Given the description of an element on the screen output the (x, y) to click on. 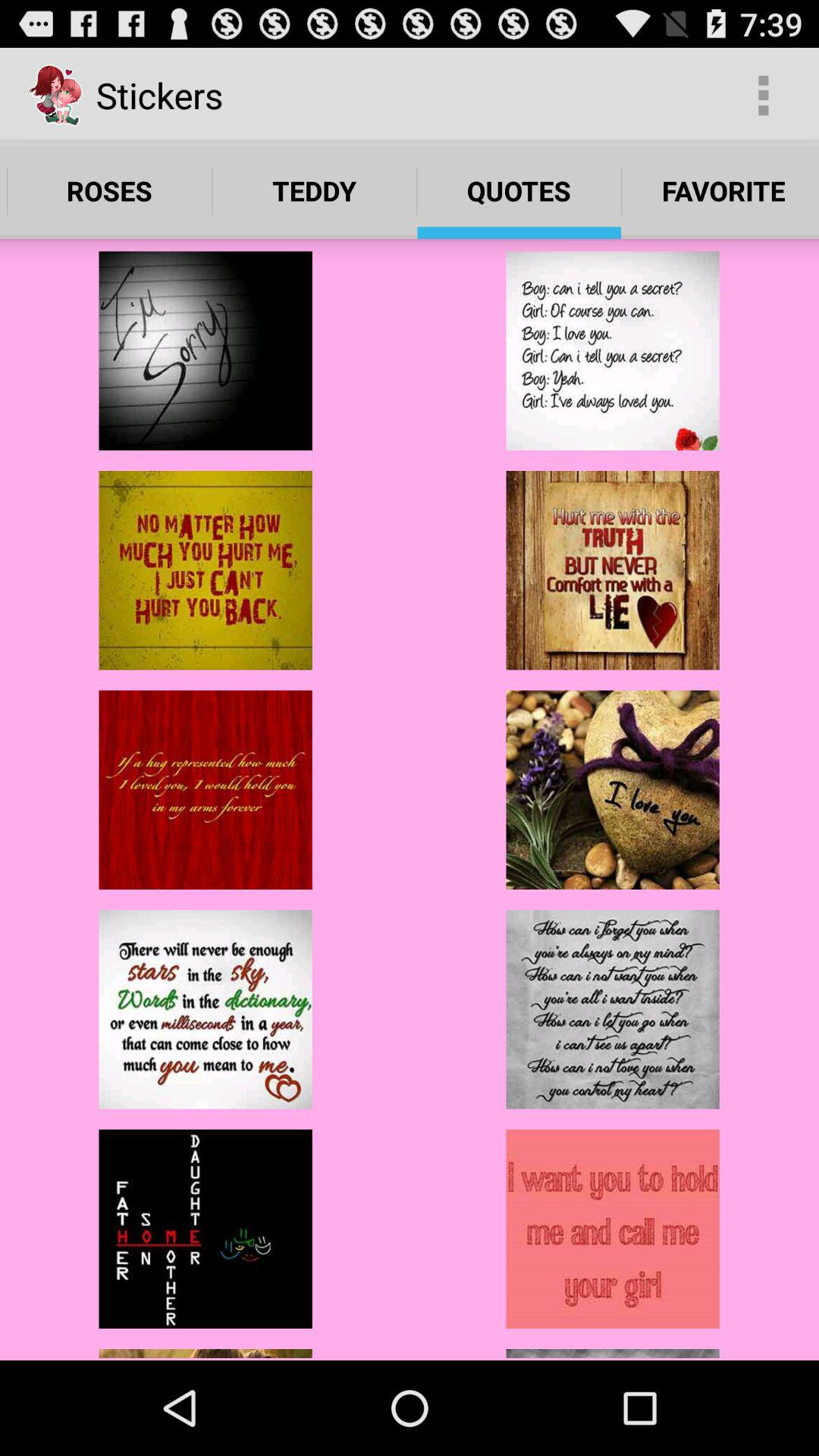
turn off icon above the favorite (763, 95)
